Given the description of an element on the screen output the (x, y) to click on. 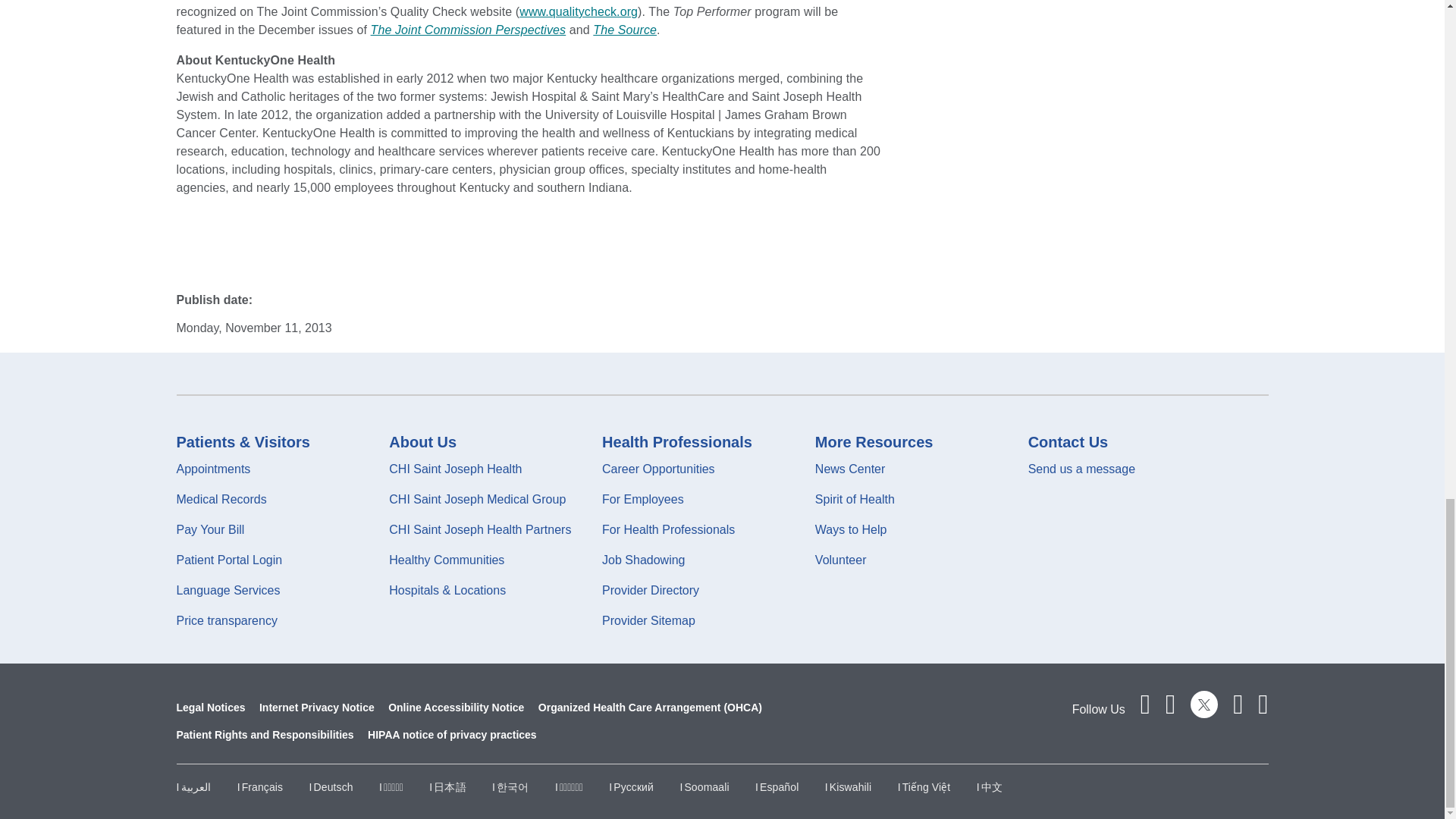
French (259, 787)
Chinese (989, 787)
Japanese (447, 787)
German (330, 787)
Spanish (776, 787)
Vietnamese (924, 787)
Russian (630, 787)
Nepali (568, 787)
Swahili (847, 787)
Hindi (390, 787)
